Given the description of an element on the screen output the (x, y) to click on. 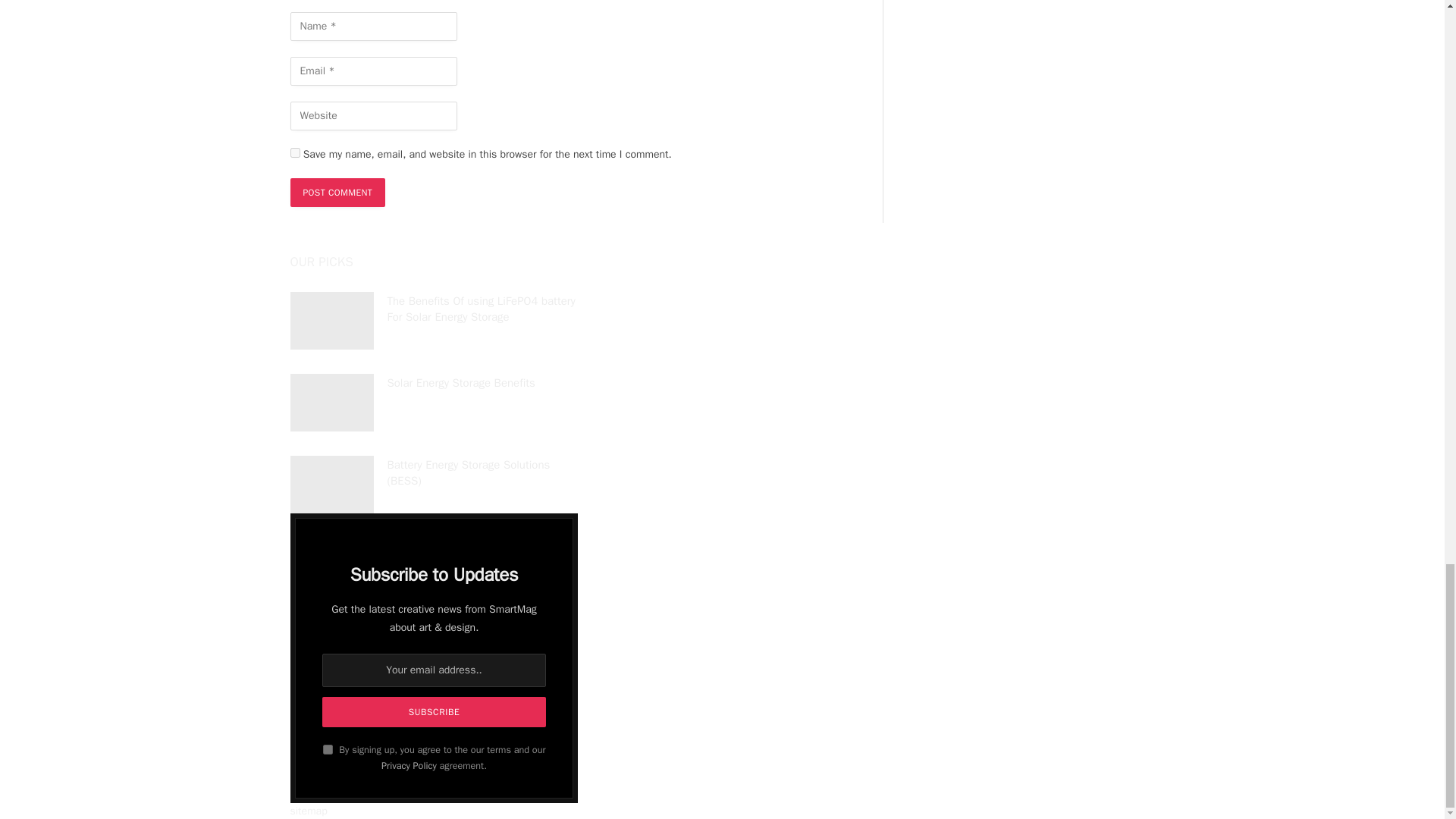
on (328, 749)
yes (294, 153)
Subscribe (432, 711)
Post Comment (337, 192)
